Given the description of an element on the screen output the (x, y) to click on. 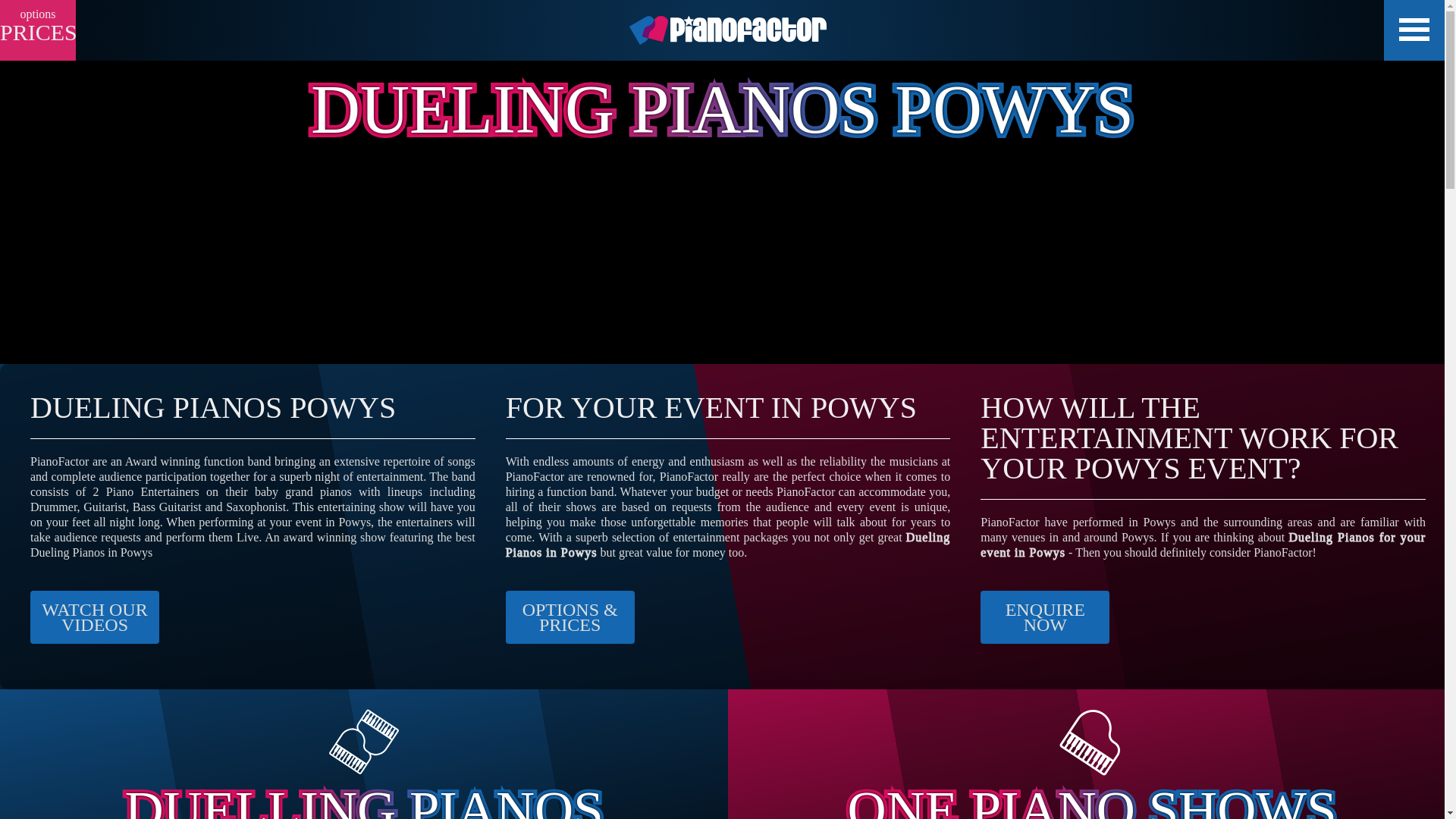
ENQUIRE NOW (1044, 616)
WATCH OUR VIDEOS (94, 616)
